Given the description of an element on the screen output the (x, y) to click on. 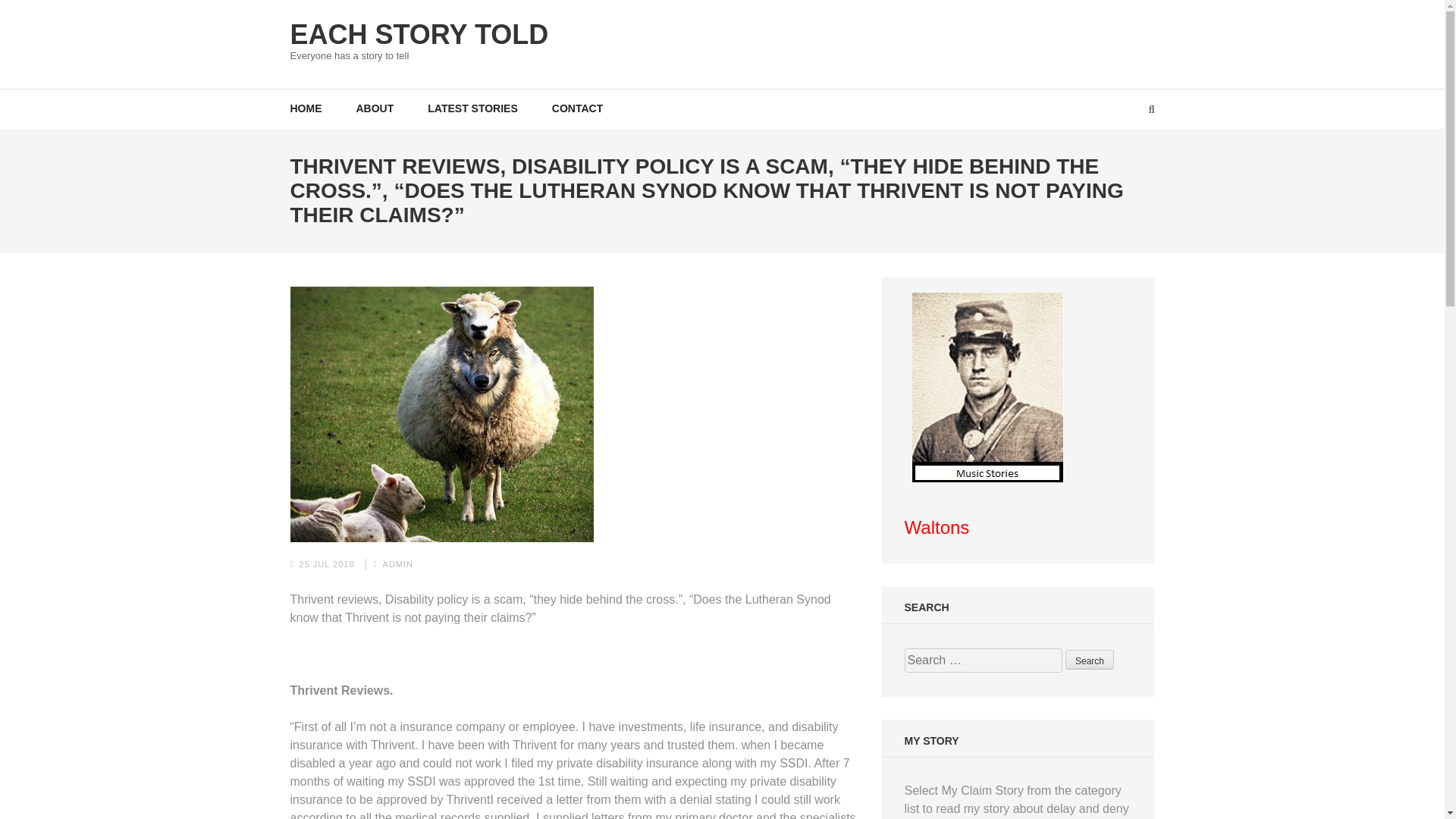
ADMIN (397, 563)
LATEST STORIES (473, 108)
Search (1089, 659)
Search (1089, 659)
CONTACT (576, 108)
EACH STORY TOLD (418, 33)
25 JUL 2018 (327, 563)
ABOUT (375, 108)
Waltons (936, 529)
Search (1089, 659)
